Given the description of an element on the screen output the (x, y) to click on. 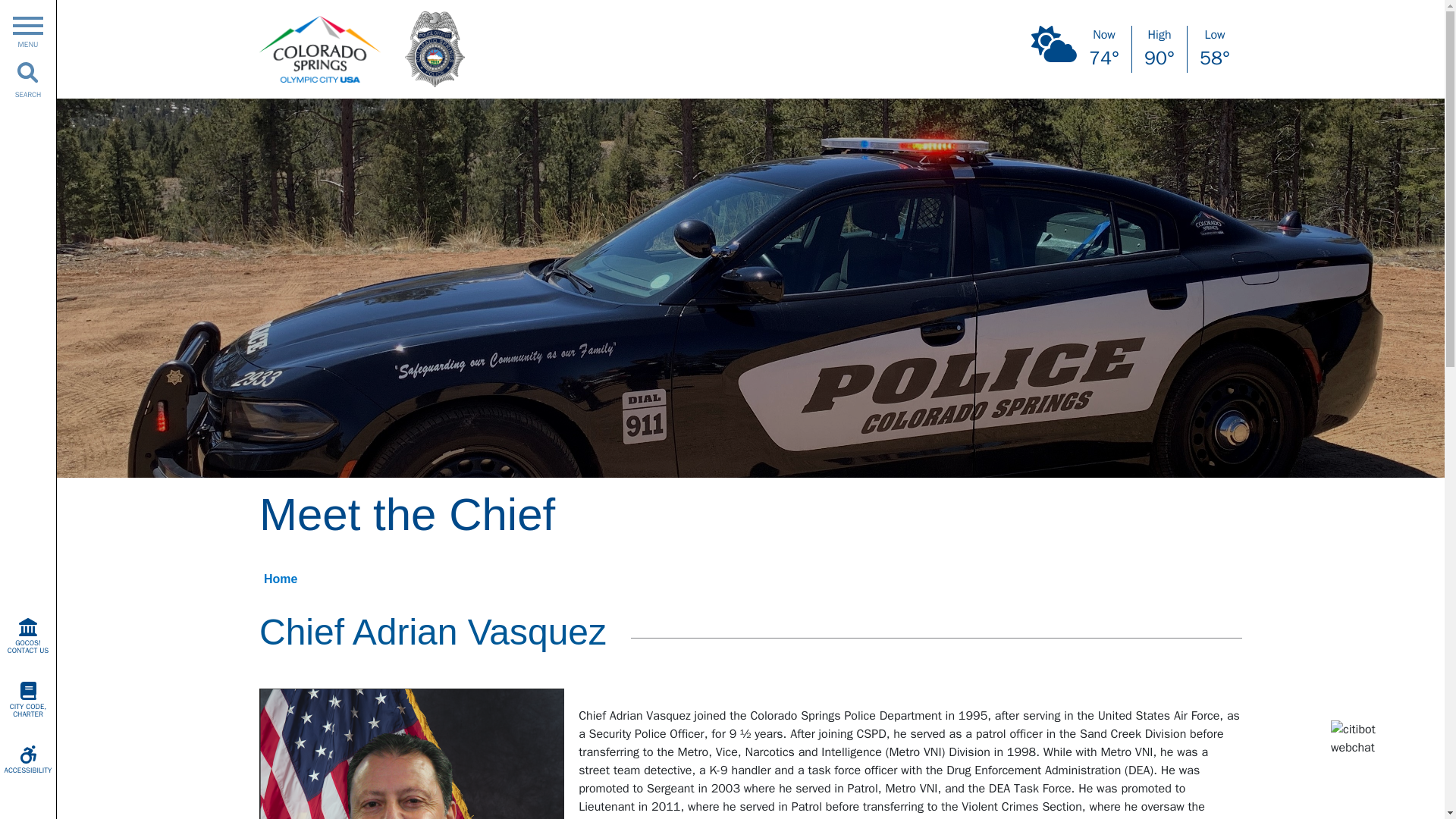
MENU (28, 29)
CITY CODE, CHARTER (28, 699)
Home (280, 578)
GOCOS! CONTACT US (28, 635)
ACCESSIBILITY (28, 760)
